Given the description of an element on the screen output the (x, y) to click on. 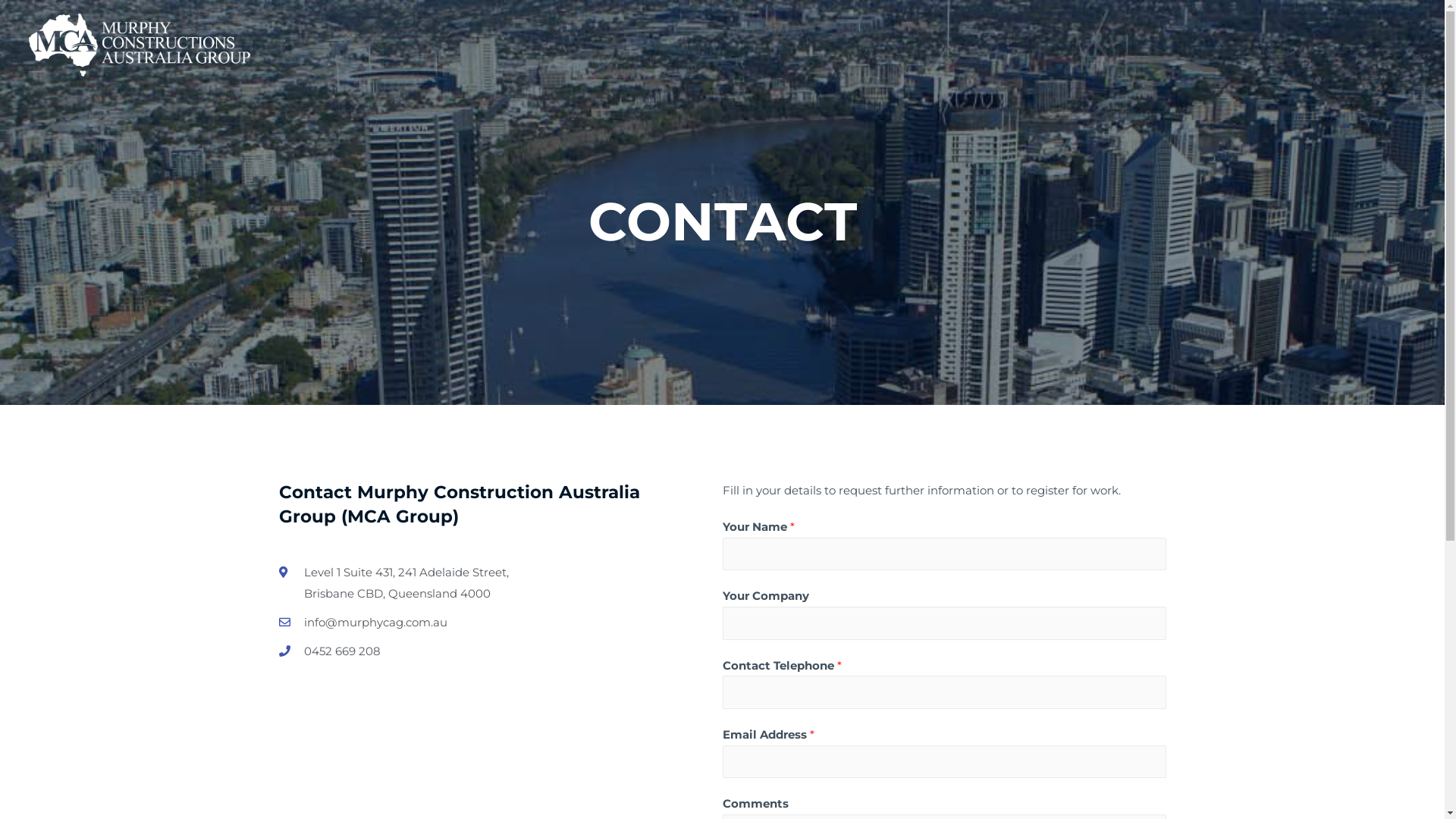
0452 669 208 Element type: text (462, 651)
info@murphycag.com.au Element type: text (462, 622)
